Given the description of an element on the screen output the (x, y) to click on. 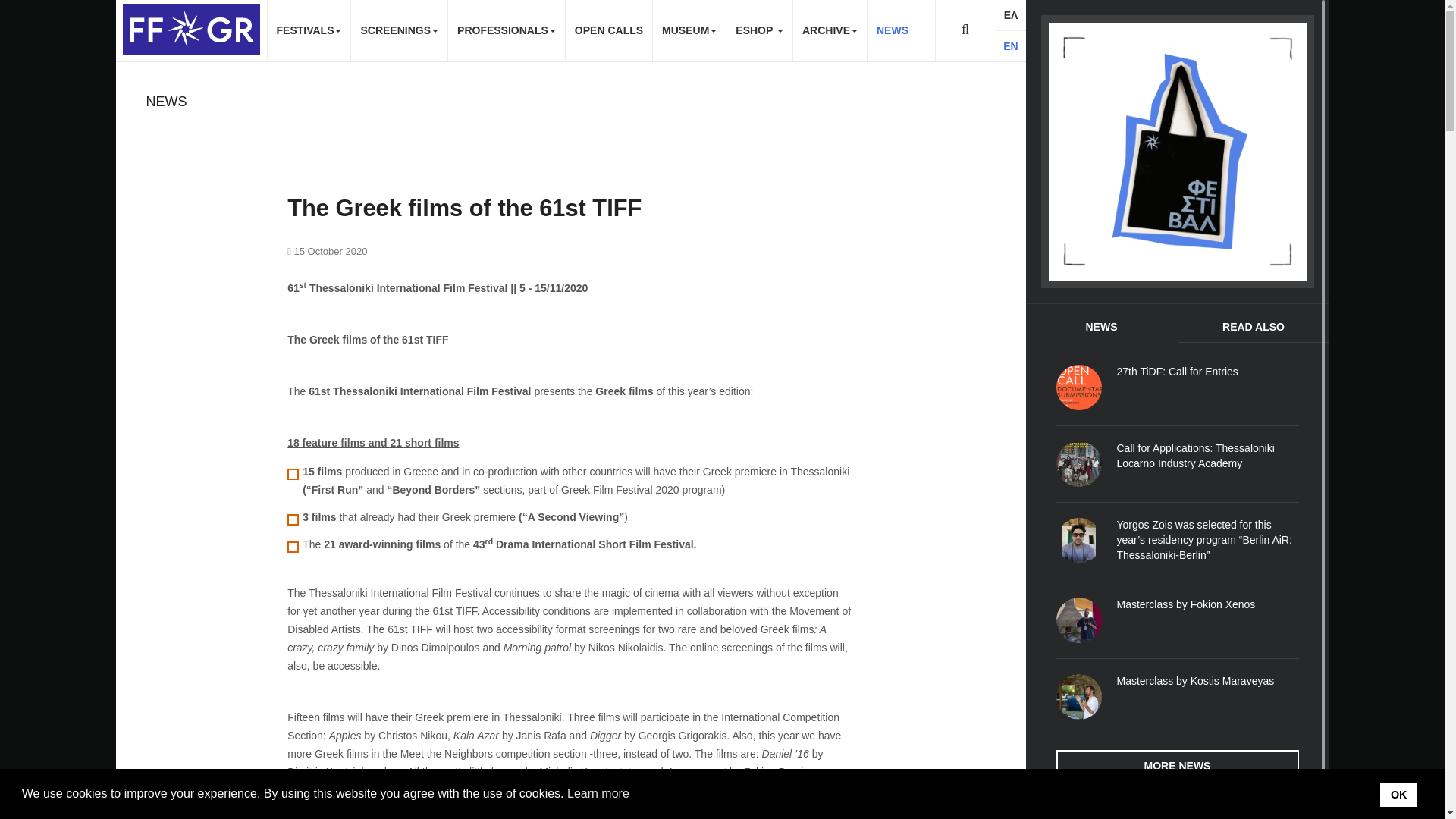
Read Also (1251, 327)
Learn more (599, 793)
EN (1010, 46)
Thessaloniki Film Festival (190, 29)
News (1100, 327)
Eshop (1177, 150)
Search Button (964, 30)
OK (1398, 794)
